Given the description of an element on the screen output the (x, y) to click on. 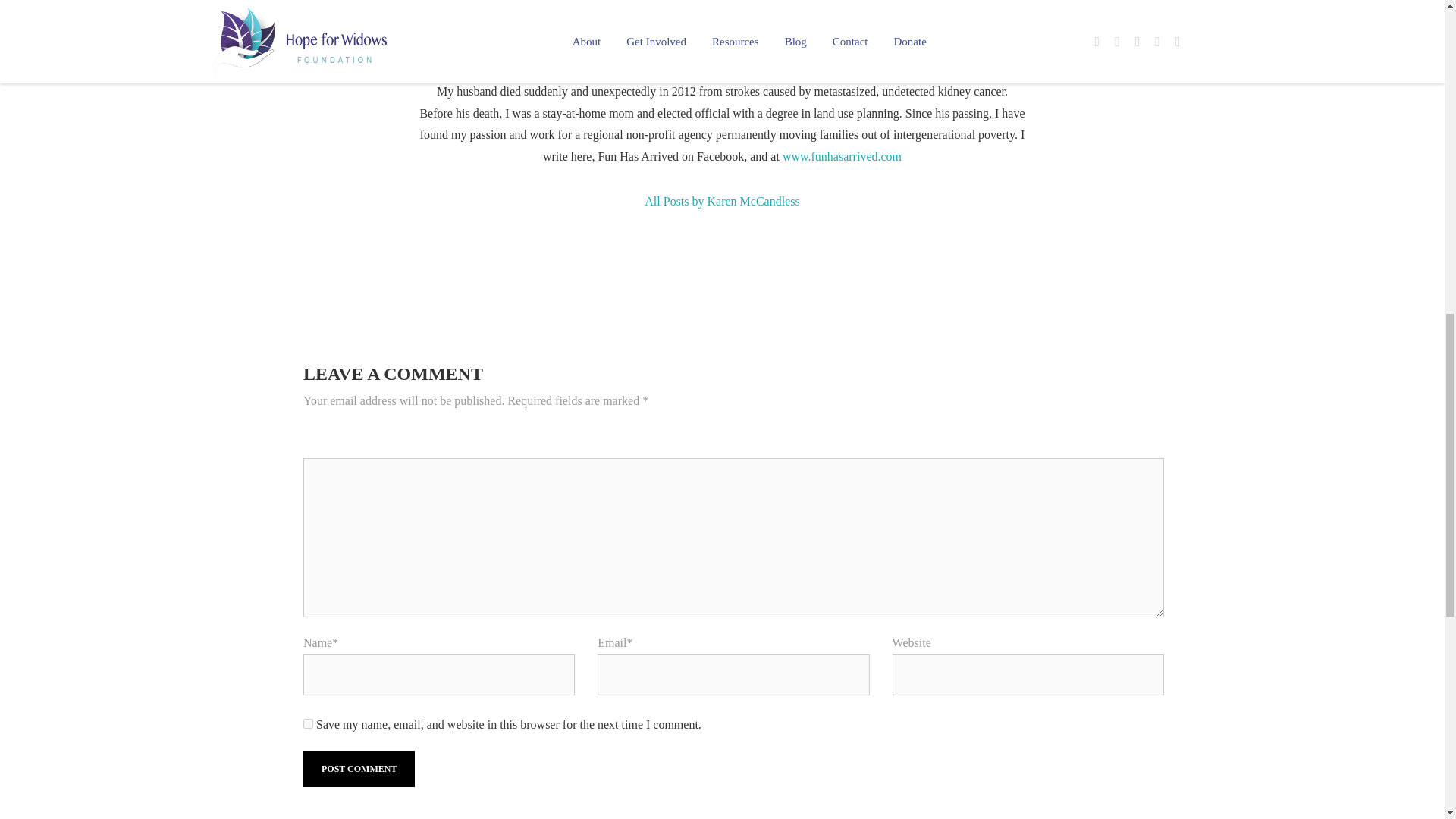
yes (307, 723)
Post Comment (358, 769)
